Given the description of an element on the screen output the (x, y) to click on. 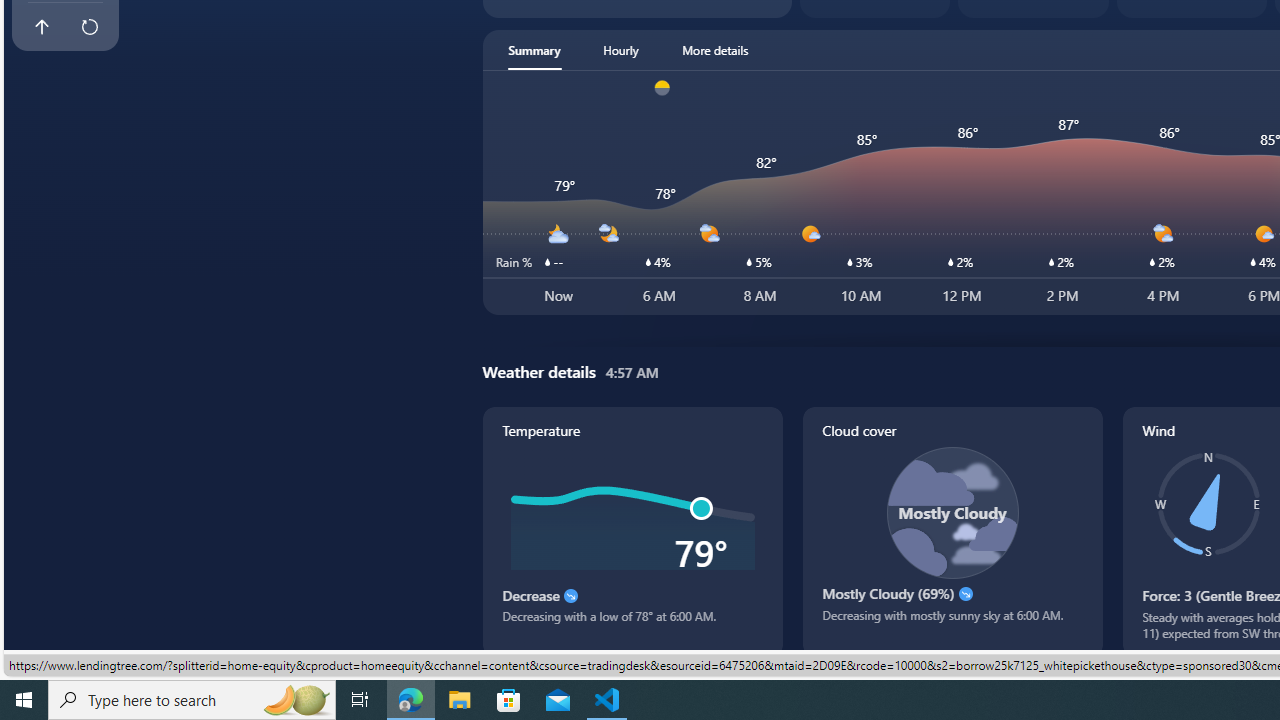
Cloud cover (952, 531)
Back to top (41, 26)
Temperature (632, 531)
Refresh this page (89, 26)
More details (715, 49)
Decreasing with mostly sunny sky at 6:00 AM. (951, 622)
Summary (534, 49)
Class: cloudCoverSvg-DS-ps0R9q (951, 512)
Hourly (620, 49)
Decrease (570, 595)
